Given the description of an element on the screen output the (x, y) to click on. 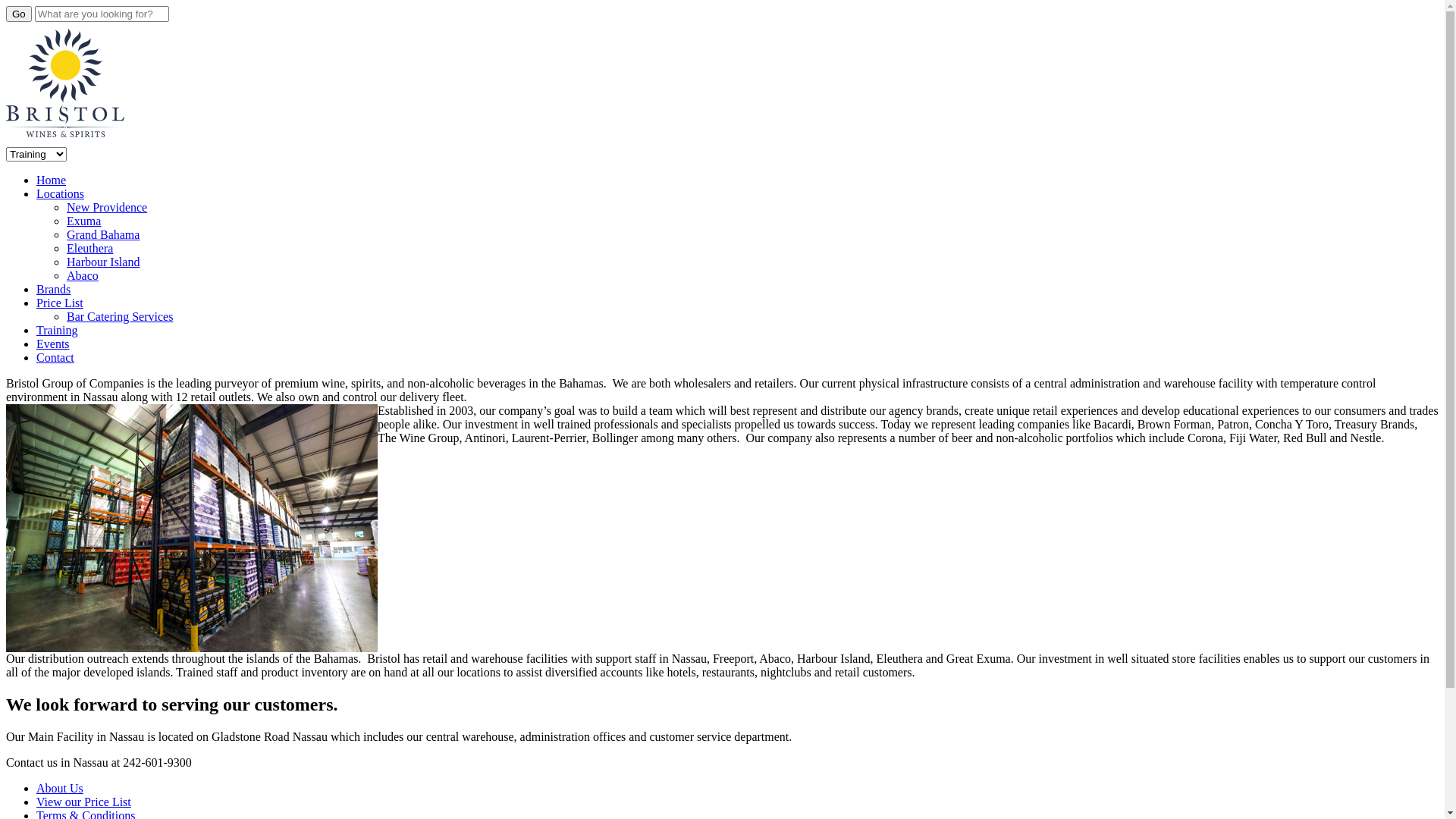
Abaco Element type: text (82, 275)
Bristol Wines & Spirits Element type: hover (65, 139)
Price List Element type: text (59, 302)
New Providence Element type: text (106, 206)
Contact Element type: text (55, 357)
Bar Catering Services Element type: text (119, 316)
View our Price List Element type: text (83, 801)
Brands Element type: text (53, 288)
Harbour Island Element type: text (102, 261)
Grand Bahama Element type: text (102, 234)
Training Element type: text (57, 329)
Locations Element type: text (60, 193)
Home Element type: text (50, 179)
Events Element type: text (52, 343)
Exuma Element type: text (83, 220)
Go Element type: text (18, 13)
Eleuthera Element type: text (89, 247)
About Us Element type: text (59, 787)
